Given the description of an element on the screen output the (x, y) to click on. 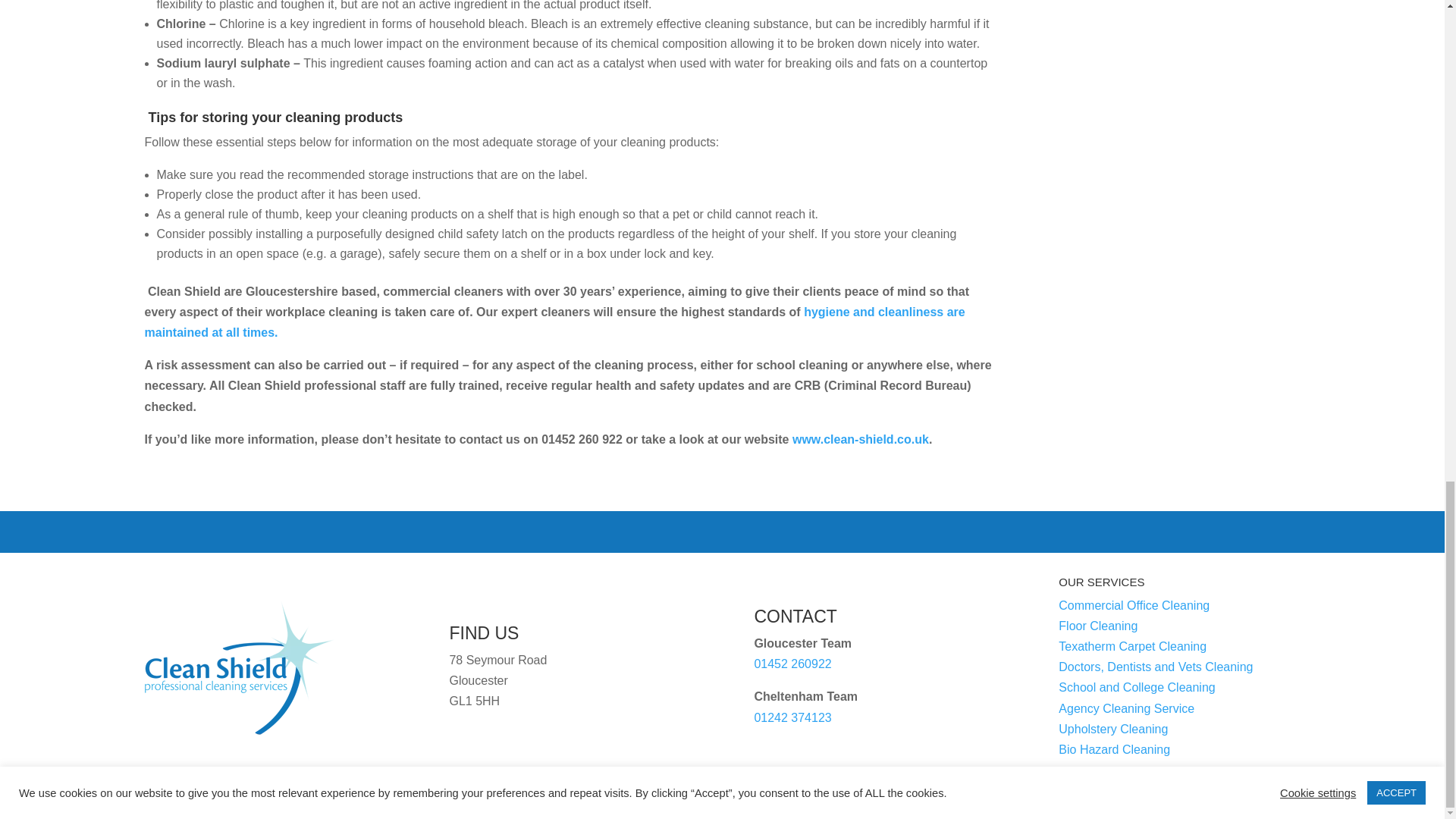
Commercial Office Cleaning (1133, 604)
Floor Cleaning (1097, 625)
School and College Cleaning (1136, 686)
Doctors, Dentists and Vets Cleaning (1155, 666)
Texatherm Carpet Cleaning (1132, 645)
Logo clean shield 250x250 lowres (238, 667)
Agency Cleaning Service (1125, 707)
